Given the description of an element on the screen output the (x, y) to click on. 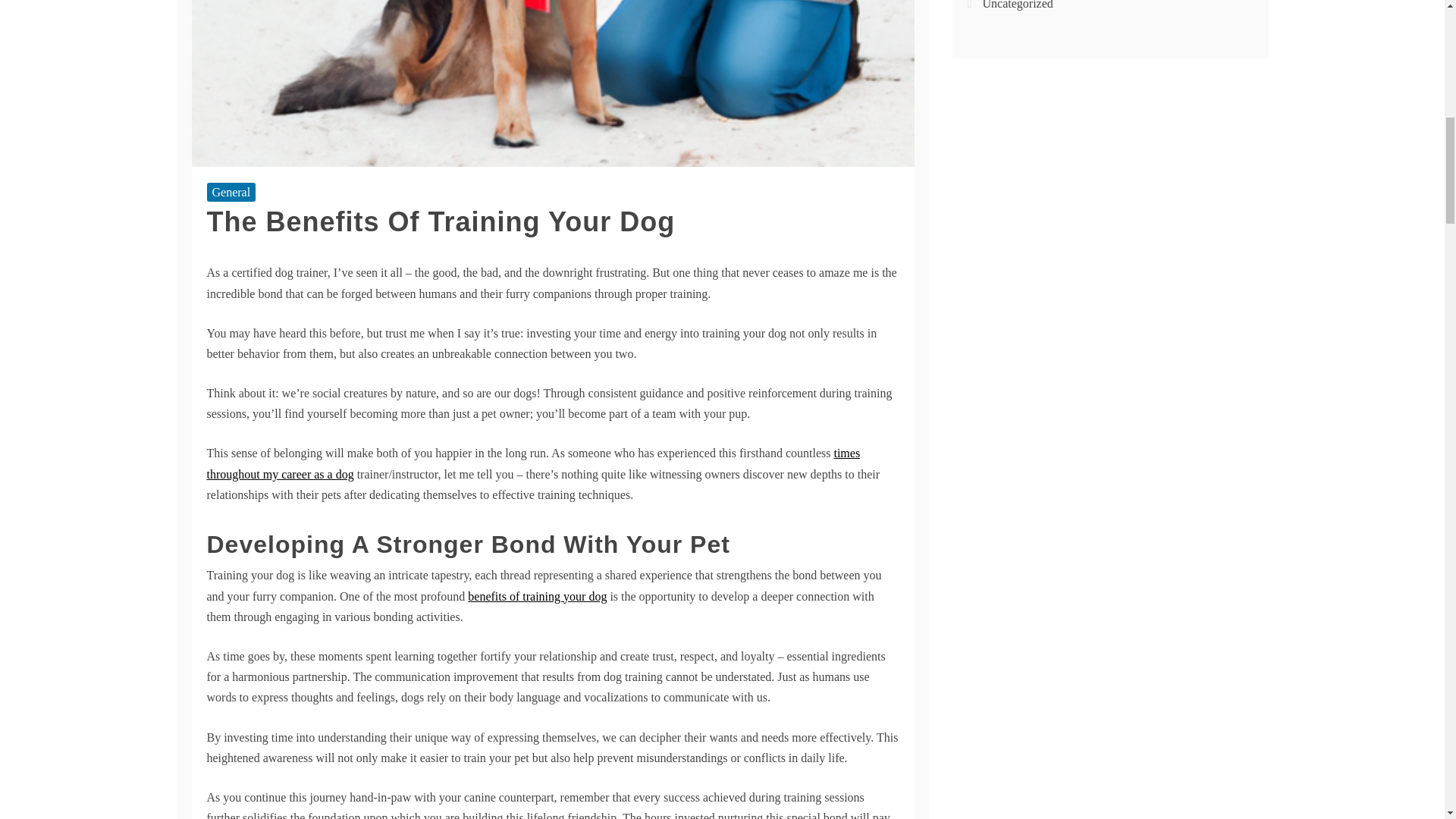
General (231, 191)
benefits of training your dog (537, 595)
times throughout my career as a dog (533, 462)
